Given the description of an element on the screen output the (x, y) to click on. 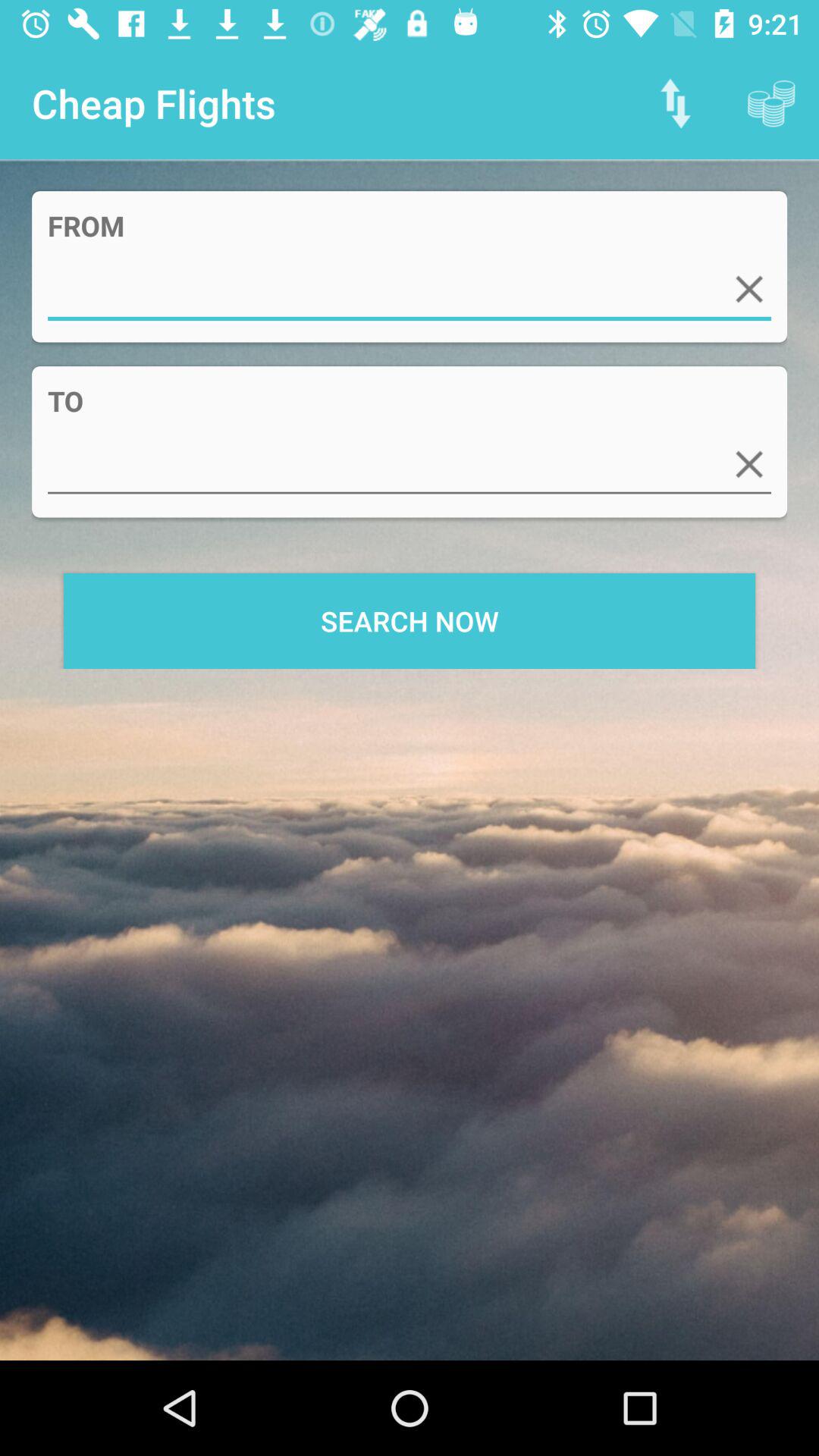
swipe until search now icon (409, 620)
